Given the description of an element on the screen output the (x, y) to click on. 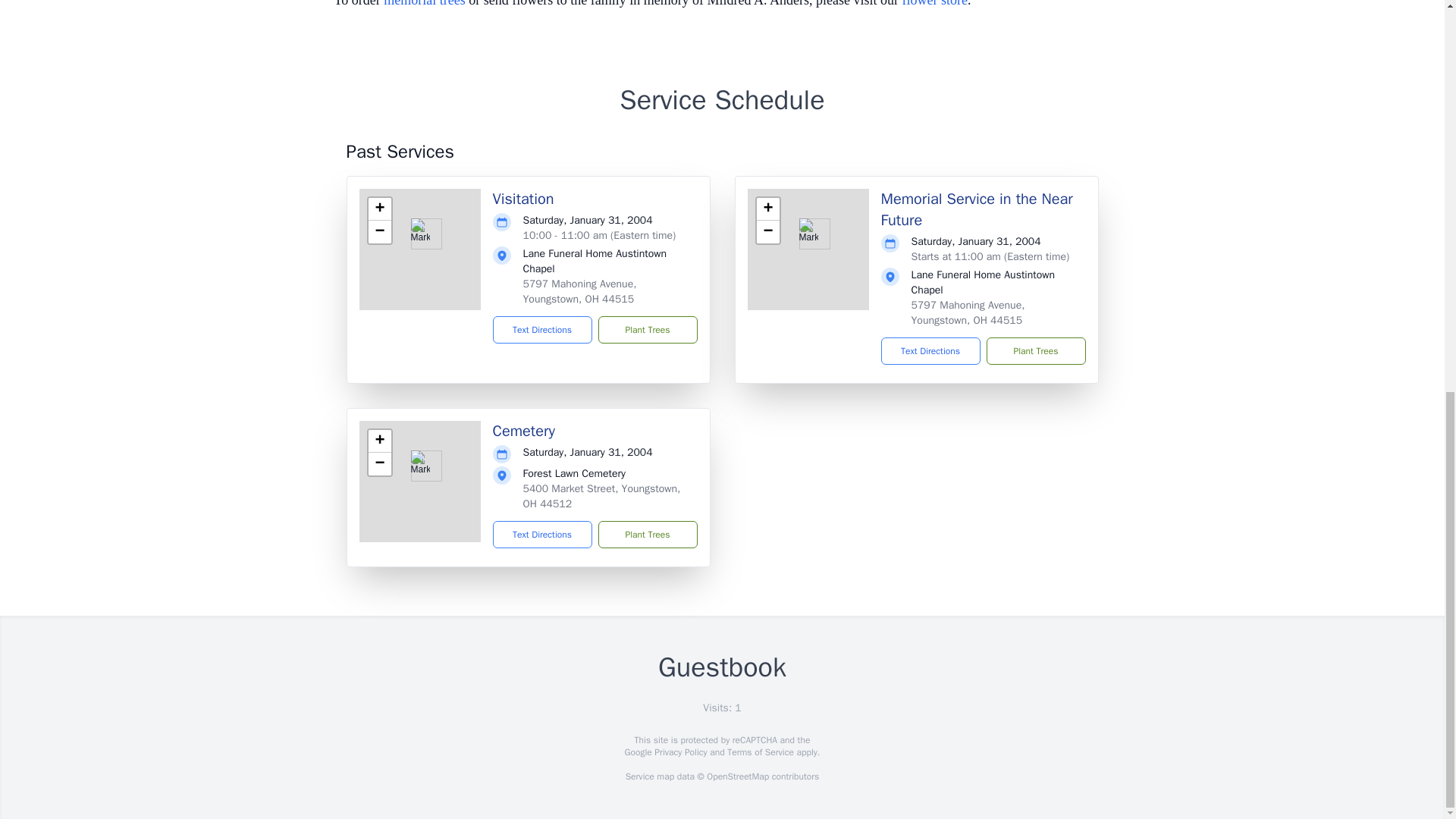
memorial trees (424, 3)
Zoom in (379, 440)
Zoom out (767, 231)
Zoom in (379, 209)
5797 Mahoning Avenue, Youngstown, OH 44515 (579, 291)
Plant Trees (646, 329)
Text Directions (542, 329)
Zoom in (767, 209)
Zoom out (379, 463)
Zoom out (379, 231)
